Given the description of an element on the screen output the (x, y) to click on. 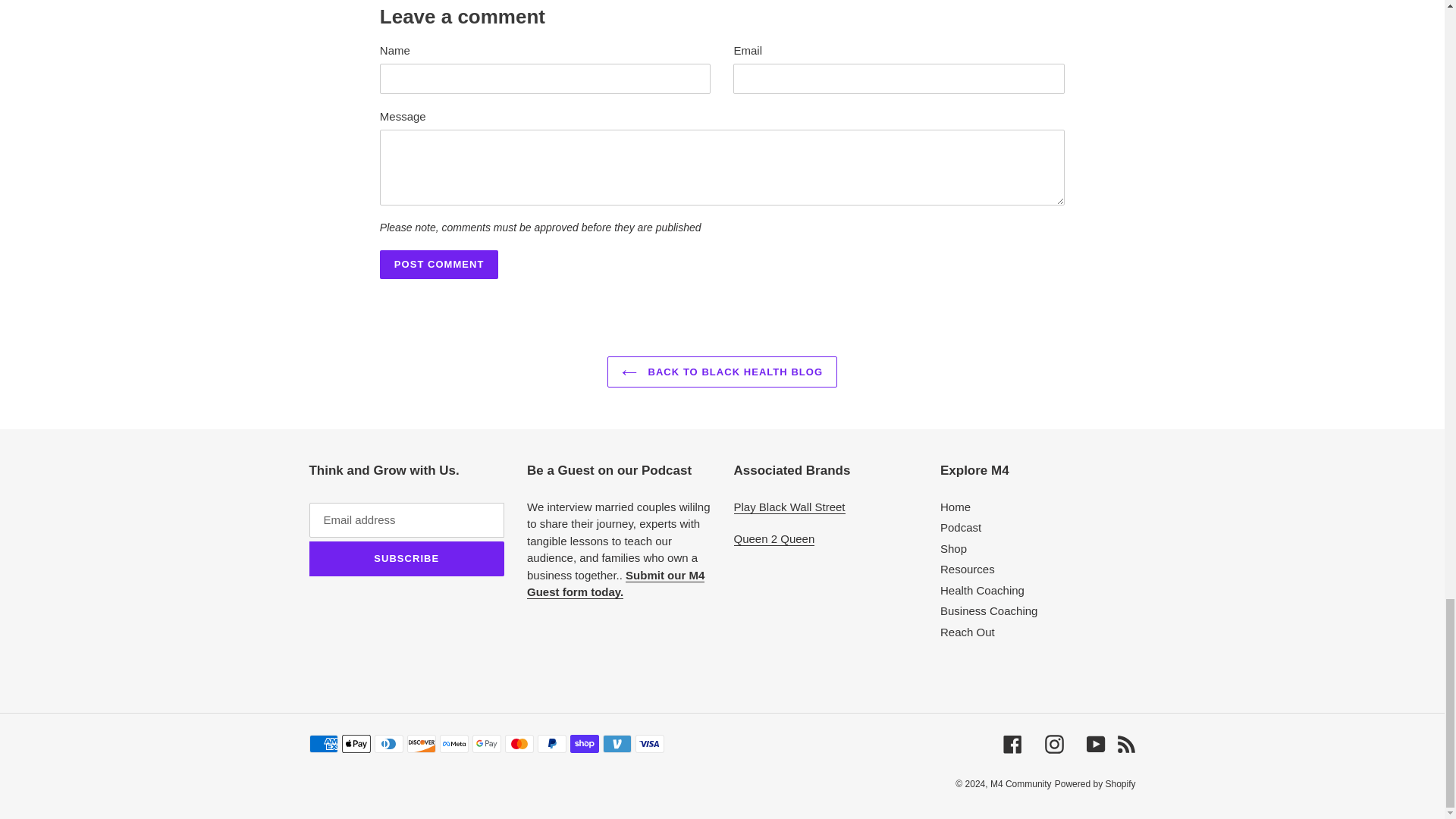
Post comment (439, 264)
Health Coaching (982, 590)
The M4 Show Guest Form (615, 583)
Post comment (439, 264)
Home (955, 506)
Queen 2 Queen (774, 539)
BACK TO BLACK HEALTH BLOG (722, 372)
Resources (967, 568)
Shop (953, 548)
Play Black Wall Street (789, 507)
